Given the description of an element on the screen output the (x, y) to click on. 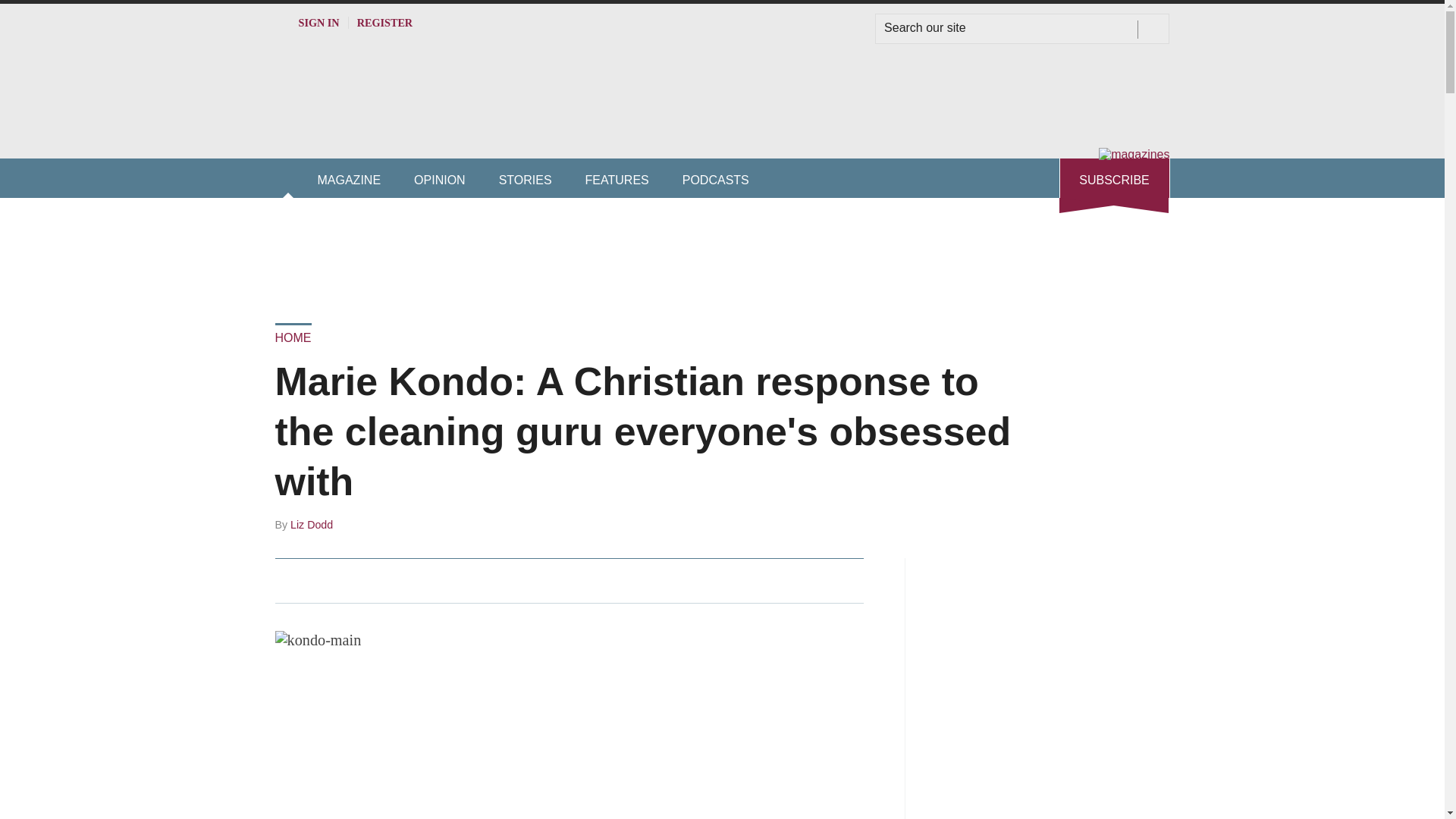
Share this on Twitter (320, 579)
Site name (494, 126)
SEARCH (1153, 28)
Email this article (386, 579)
REGISTER (384, 22)
Share this on Facebook (288, 579)
SIGN IN (307, 22)
Share this on Linked in (352, 579)
